Given the description of an element on the screen output the (x, y) to click on. 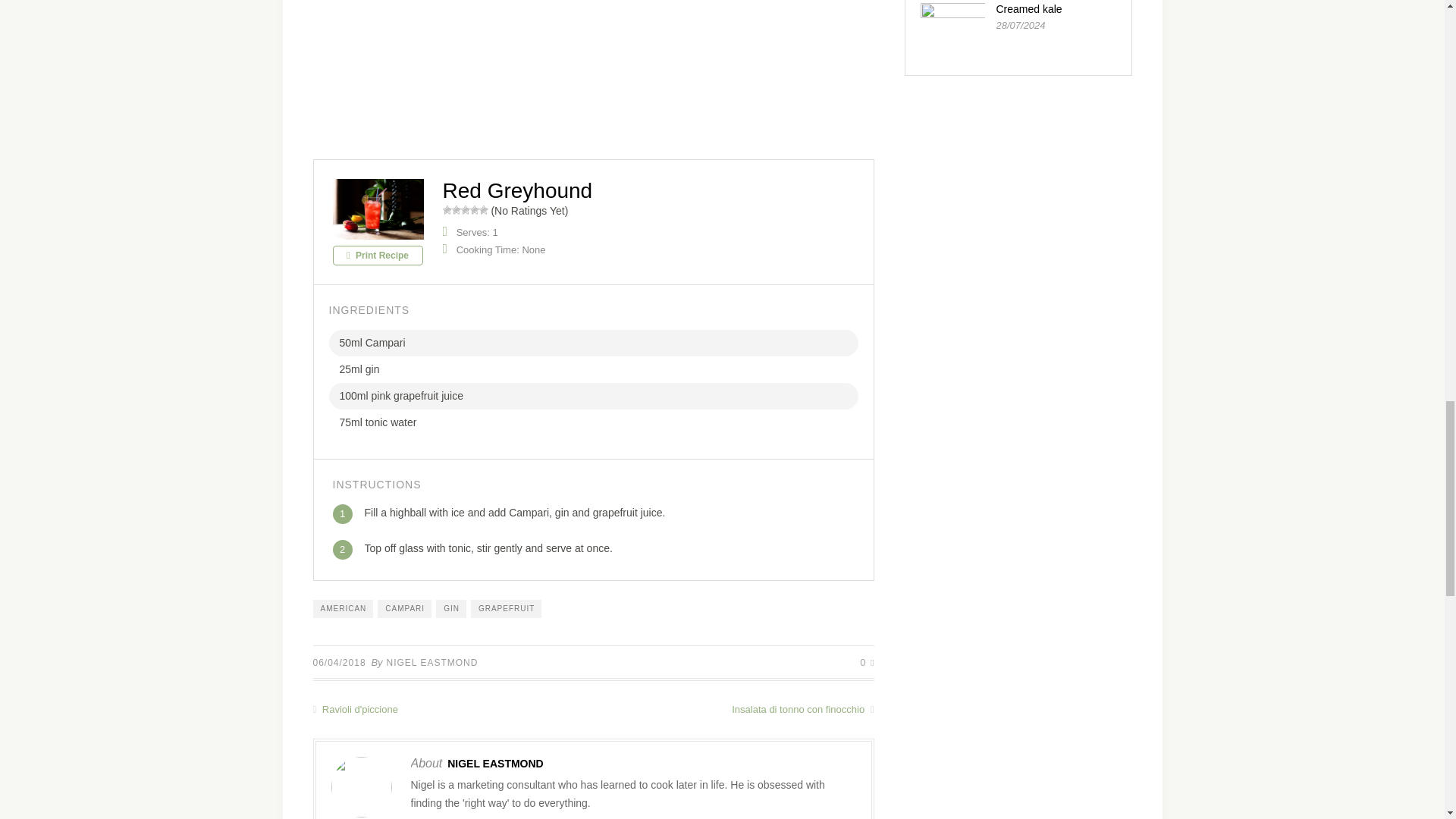
0 (866, 662)
NIGEL EASTMOND (433, 662)
GIN (450, 608)
Posts by Nigel Eastmond (433, 662)
1 Star (446, 209)
NIGEL EASTMOND (494, 763)
AMERICAN (342, 608)
GRAPEFRUIT (505, 608)
4 Stars (474, 209)
Insalata di tonno con finocchio (732, 708)
